Given the description of an element on the screen output the (x, y) to click on. 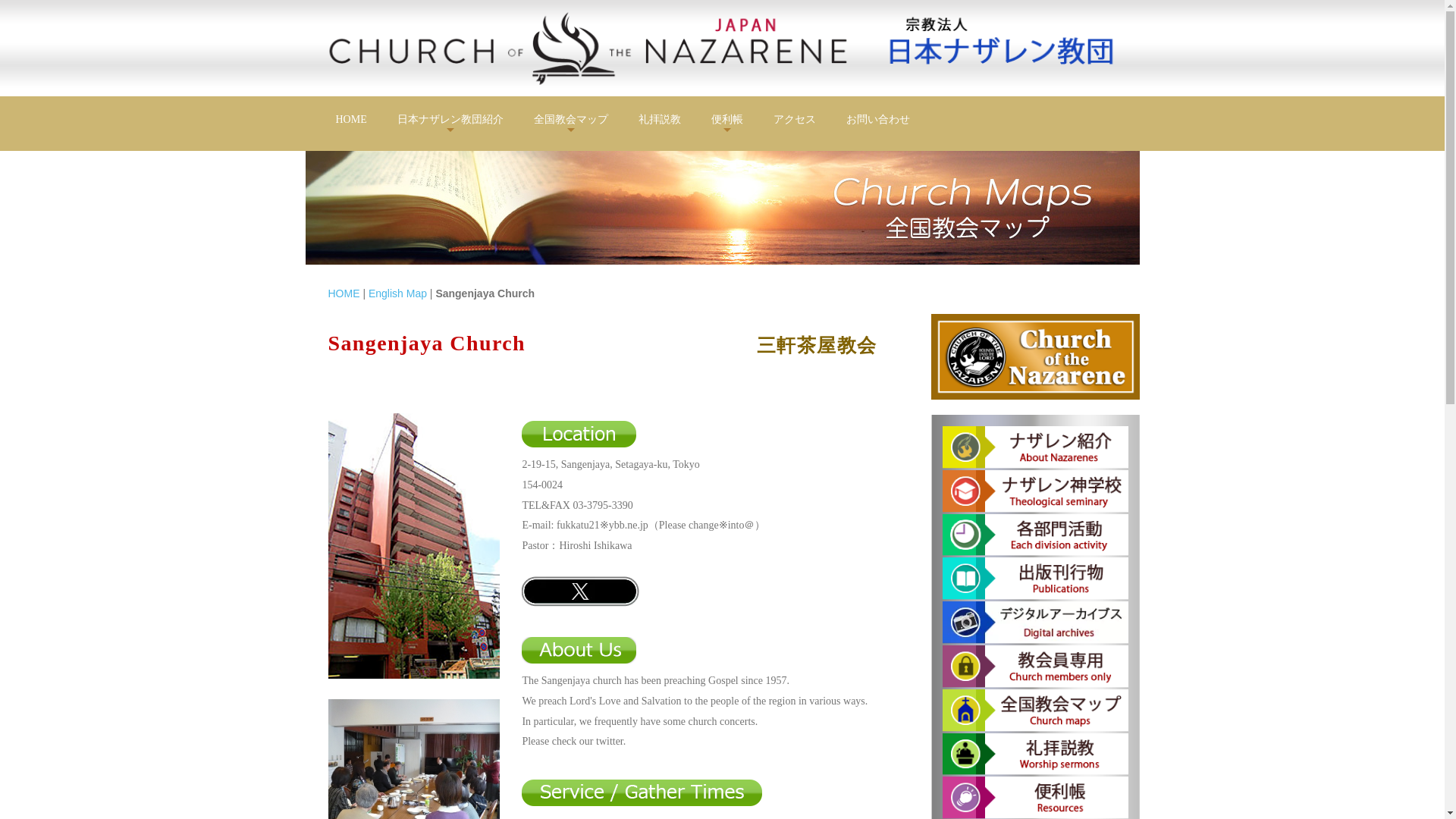
English Map (397, 293)
HOME (343, 293)
HOME (350, 119)
